Given the description of an element on the screen output the (x, y) to click on. 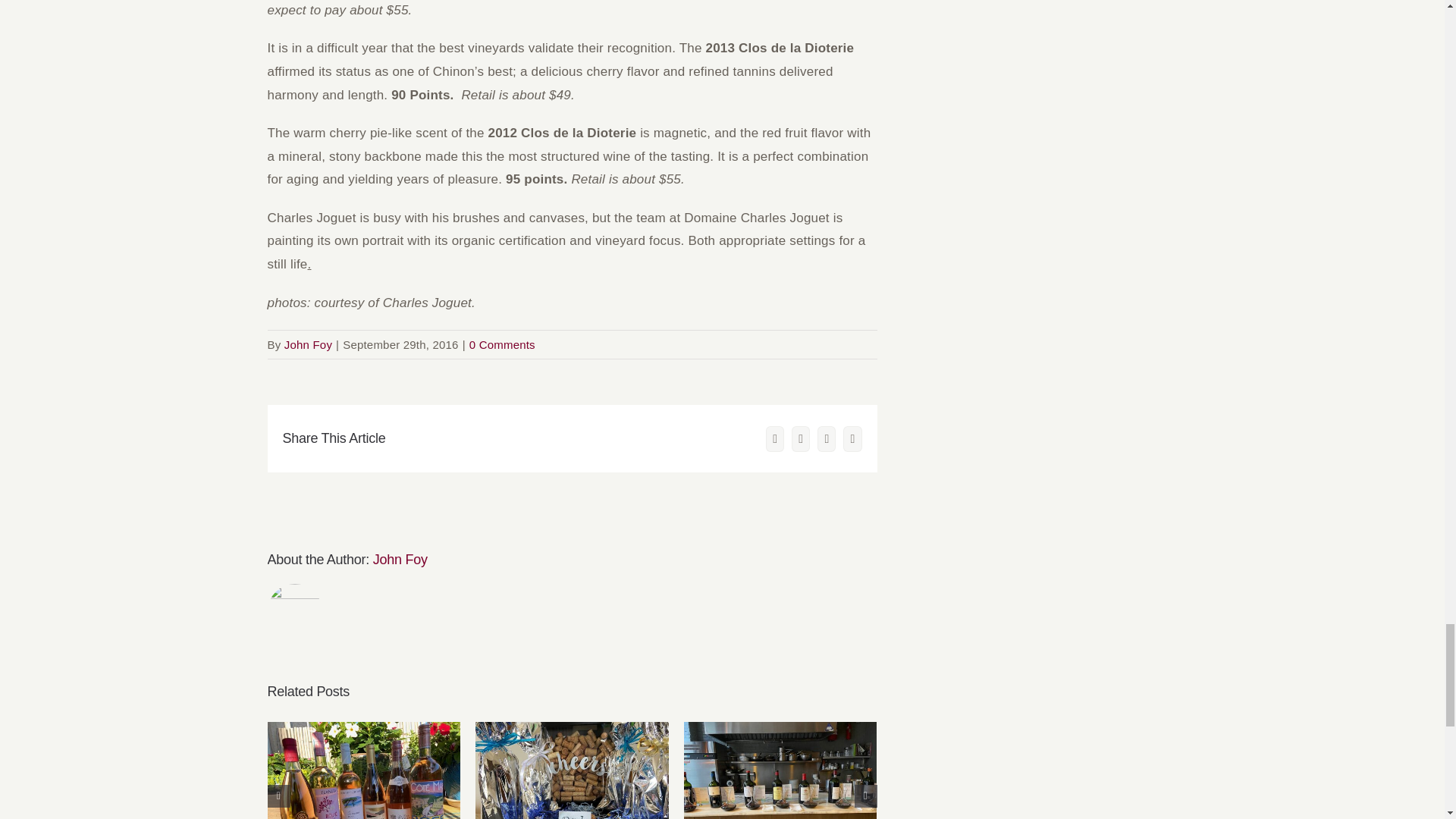
WhatsApp (825, 438)
Posts by John Foy (400, 559)
LinkedIn (800, 438)
John Foy (400, 559)
0 Comments (501, 344)
John Foy (307, 344)
X (774, 438)
Posts by John Foy (307, 344)
LinkedIn (800, 438)
X (774, 438)
Email (852, 438)
WhatsApp (825, 438)
Email (852, 438)
